Given the description of an element on the screen output the (x, y) to click on. 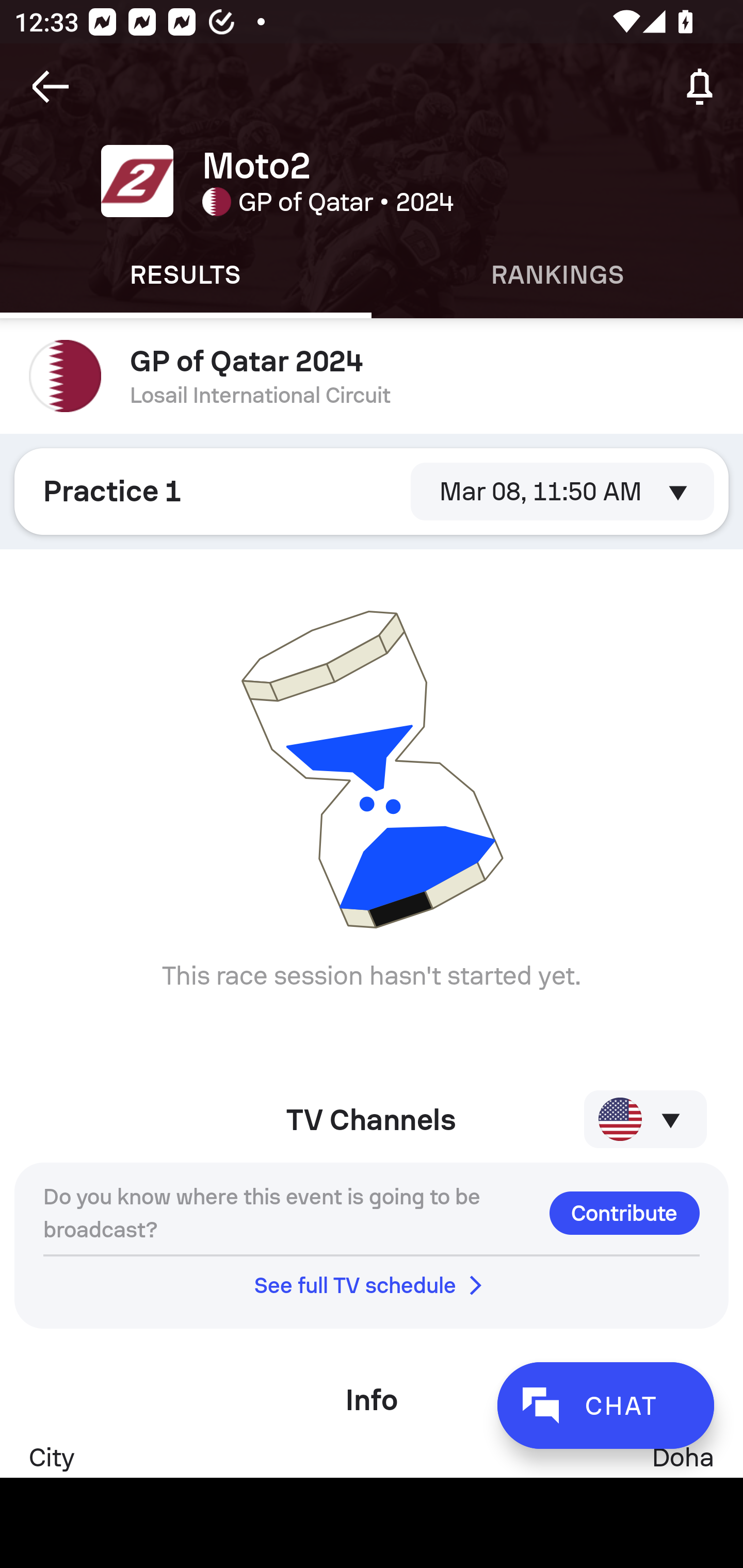
Navigate up (50, 86)
Rankings RANKINGS (557, 275)
Practice 1 Mar 08, 11:50 AM (371, 491)
Mar 08, 11:50 AM (562, 491)
Contribute (624, 1212)
See full TV schedule (371, 1284)
CHAT (605, 1405)
